Given the description of an element on the screen output the (x, y) to click on. 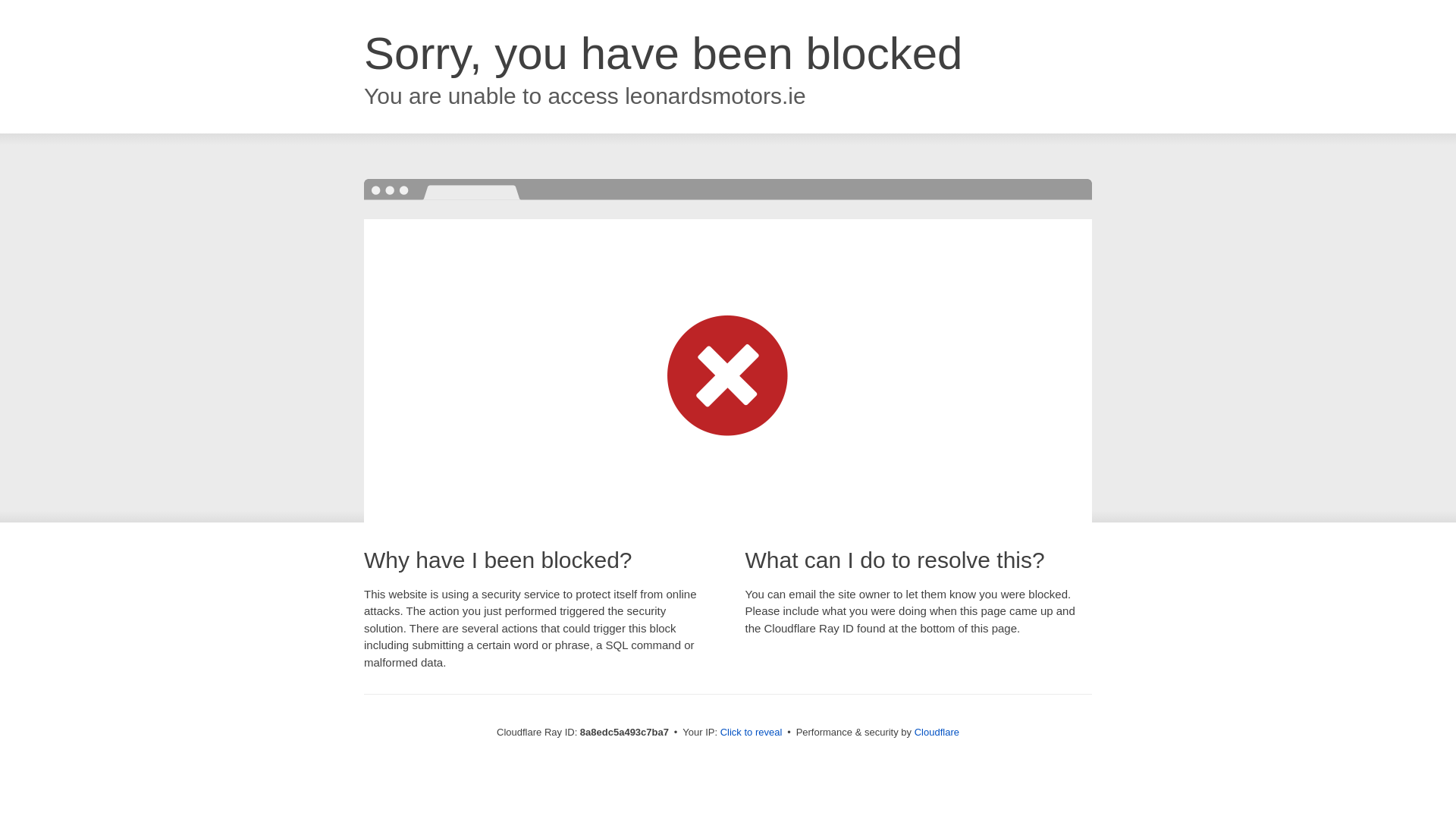
Cloudflare (936, 731)
Click to reveal (751, 732)
